Given the description of an element on the screen output the (x, y) to click on. 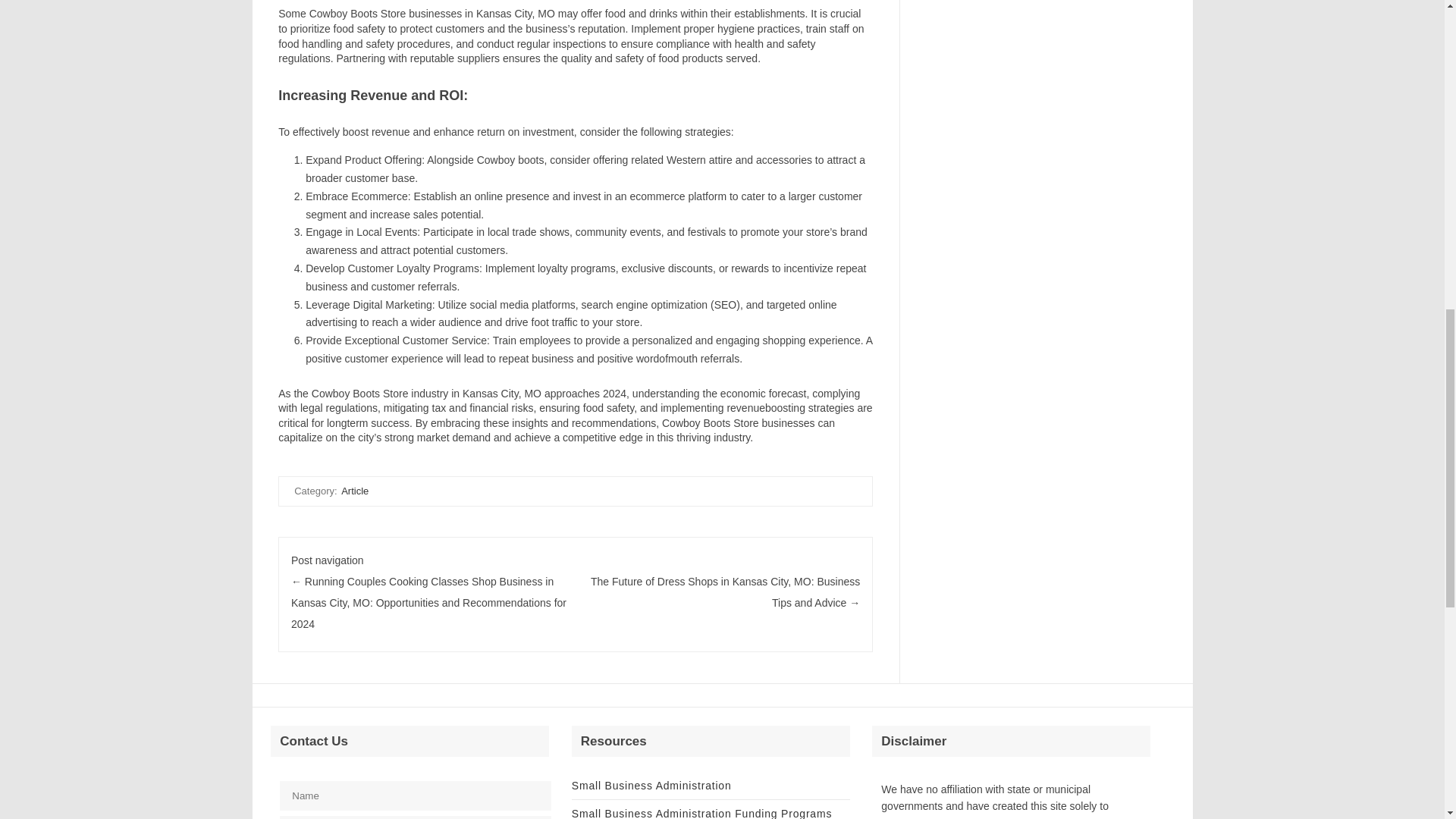
Small Business Administration (652, 785)
Article (354, 490)
Small Business Administration Funding Programs (701, 813)
